Given the description of an element on the screen output the (x, y) to click on. 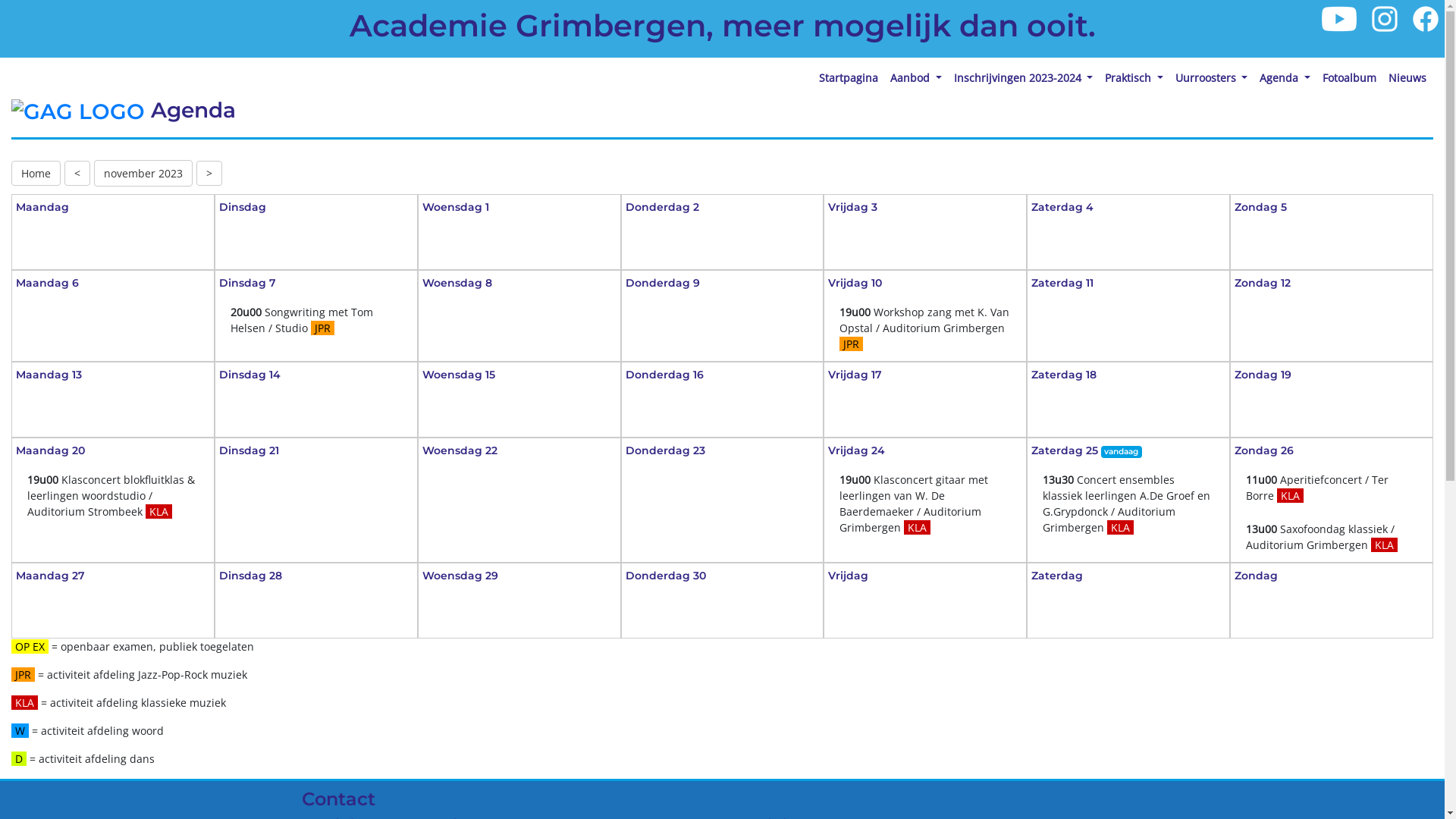
Fotoalbum Element type: text (1349, 77)
Inschrijvingen 2023-2024 Element type: text (1023, 77)
Uurroosters Element type: text (1211, 77)
Startpagina Element type: text (848, 77)
Aanbod Element type: text (915, 77)
Agenda Element type: text (1284, 77)
> Element type: text (209, 172)
Home Element type: text (35, 172)
Volg de academie op Facebook Element type: hover (1425, 17)
Volg de academie op YouTube Element type: hover (1341, 17)
Volg de academie op Instagram Element type: hover (1384, 17)
Praktisch Element type: text (1133, 77)
Nieuws Element type: text (1407, 77)
< Element type: text (77, 172)
